Given the description of an element on the screen output the (x, y) to click on. 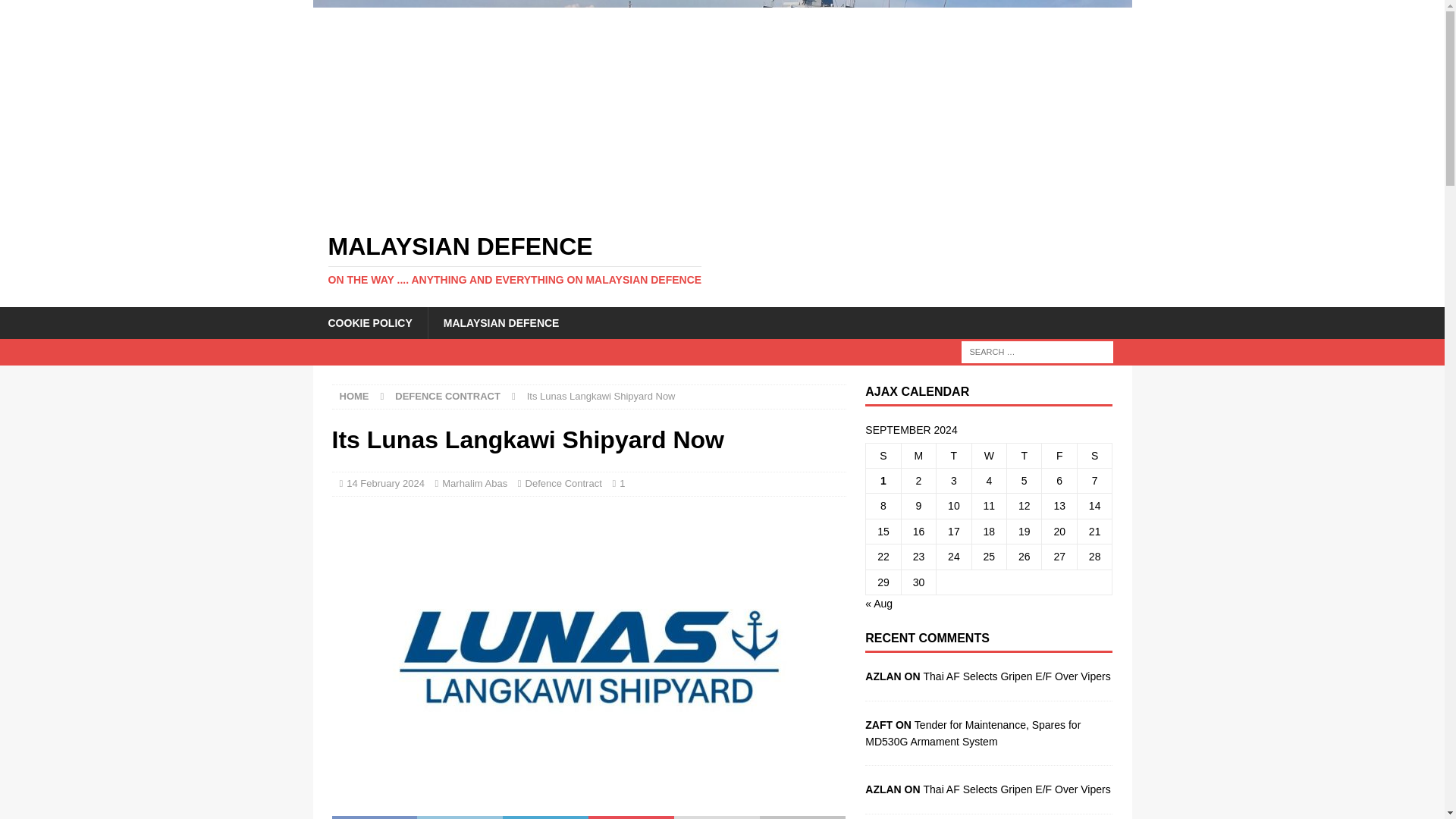
Search (56, 11)
14 February 2024 (385, 482)
DEFENCE CONTRACT (447, 396)
COOKIE POLICY (369, 323)
Malaysian Defence (722, 205)
Marhalim Abas (474, 482)
Defence Contract (563, 482)
HOME (354, 396)
